Given the description of an element on the screen output the (x, y) to click on. 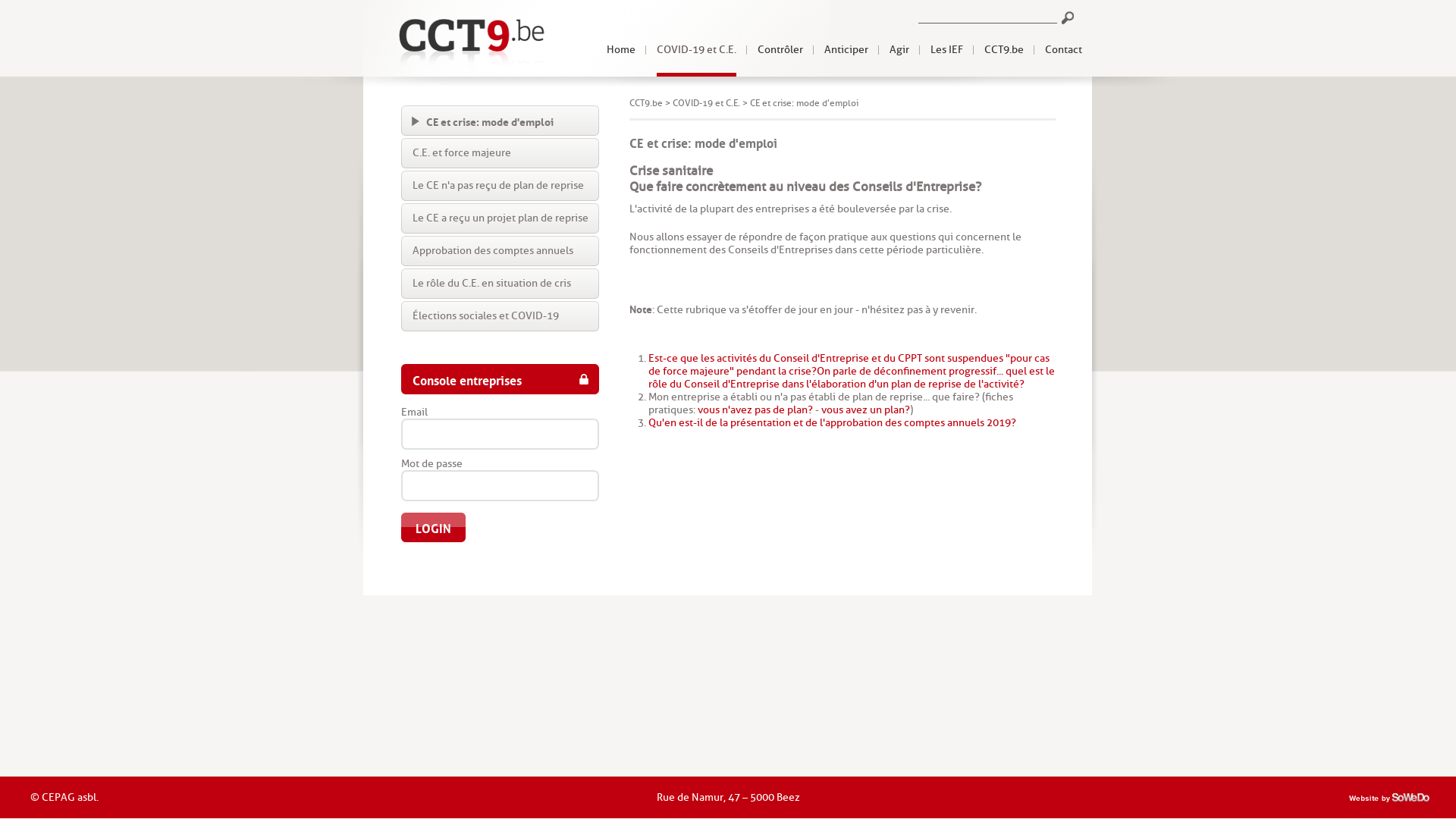
C.E. et force majeure Element type: text (500, 153)
CCT9.be Element type: text (645, 103)
vous n'avez pas de plan? Element type: text (754, 409)
COVID-19 et C.E. Element type: text (696, 49)
Agir Element type: text (899, 49)
CE et crise: mode d'emploi Element type: text (500, 120)
LOGIN Element type: text (433, 527)
Les IEF Element type: text (946, 49)
Anticiper Element type: text (846, 49)
vous avez un plan? Element type: text (865, 409)
Approbation des comptes annuels Element type: text (500, 250)
Home Element type: text (620, 49)
COVID-19 et C.E. Element type: text (706, 103)
ok Element type: text (1067, 17)
Contact Element type: text (1063, 49)
CCT9.be Element type: text (1003, 49)
